Given the description of an element on the screen output the (x, y) to click on. 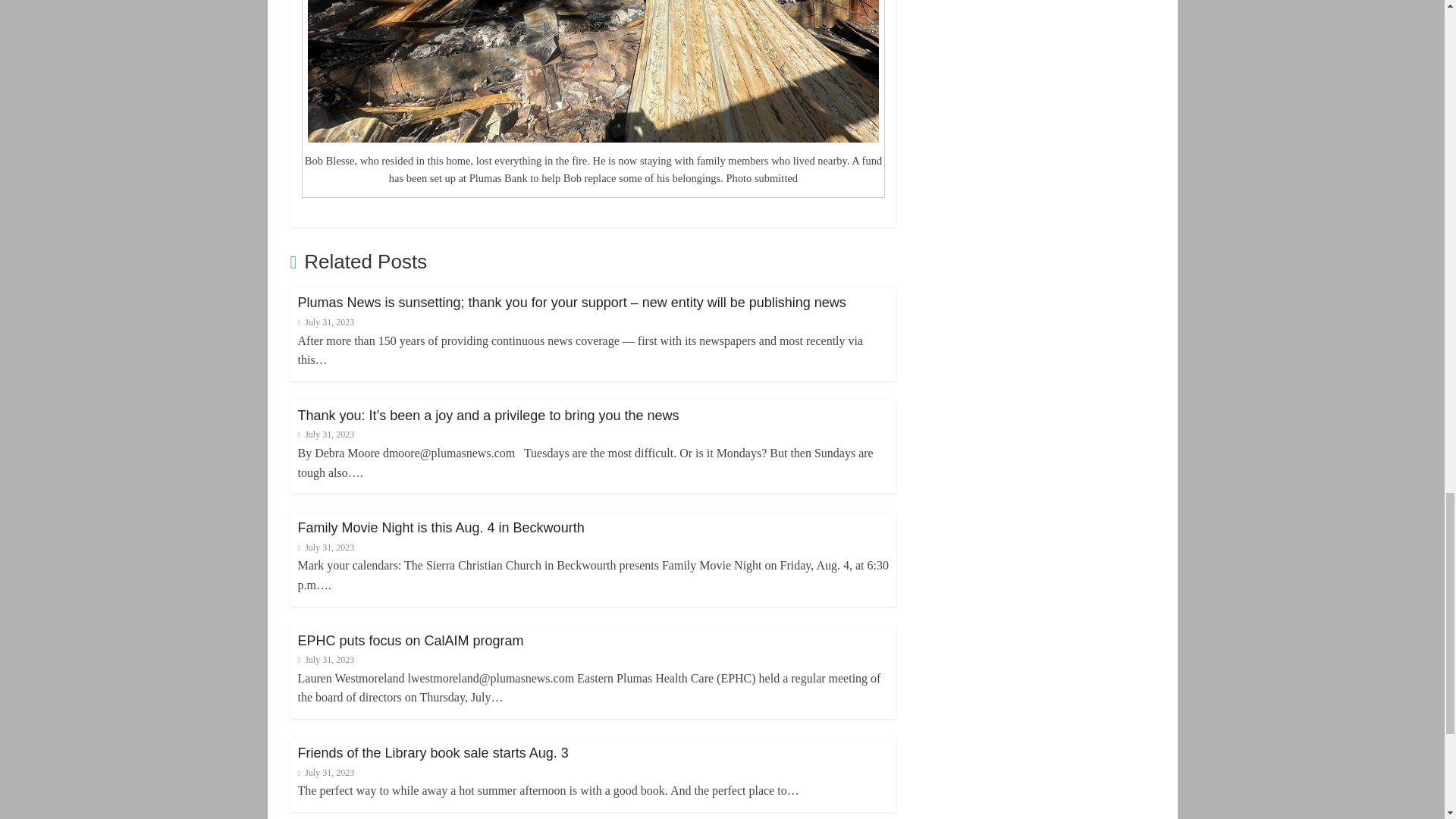
1:10 pm (325, 434)
5:07 pm (325, 321)
